Given the description of an element on the screen output the (x, y) to click on. 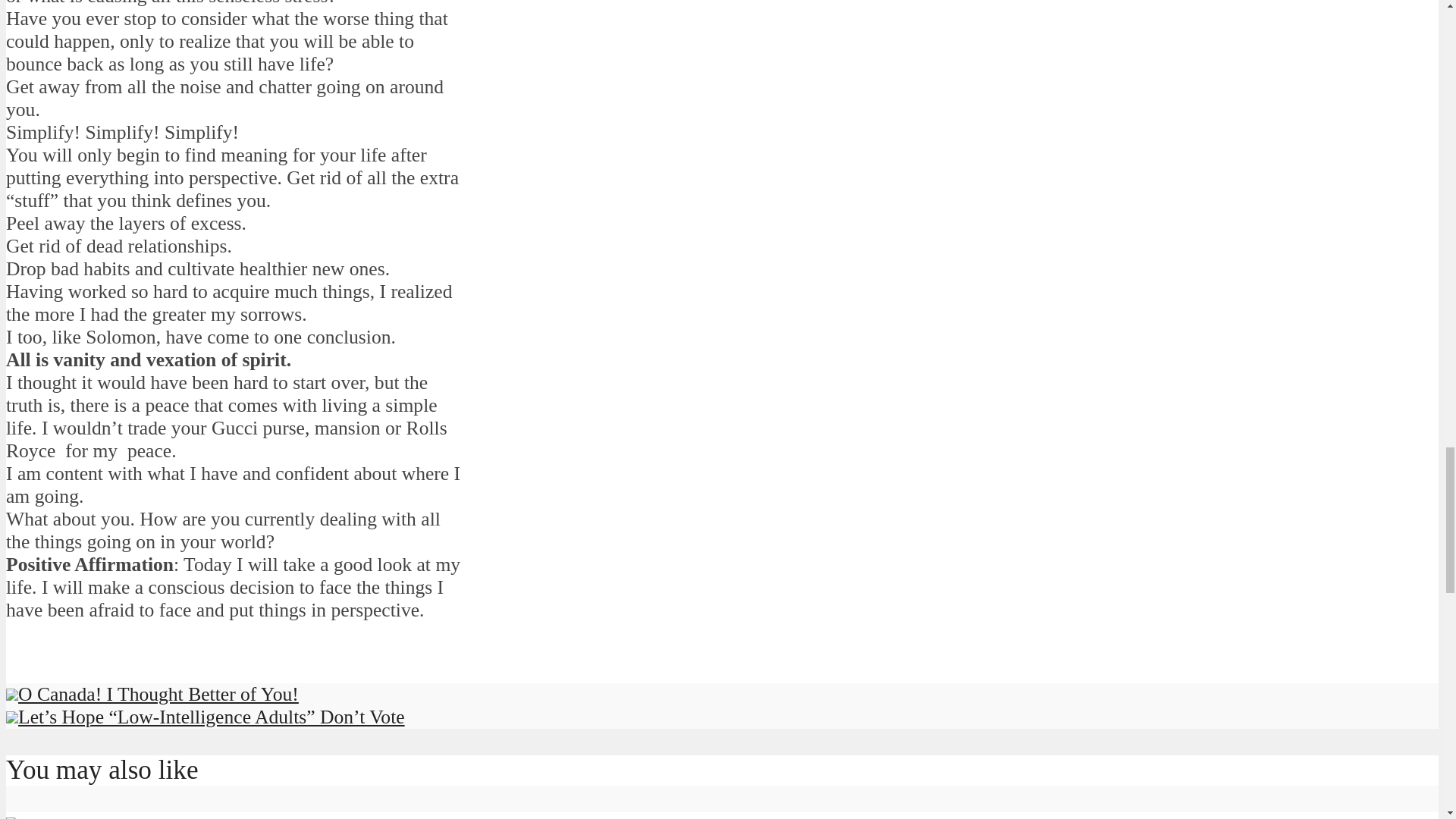
O Canada! I Thought Better of You! (151, 694)
Time Management (11, 815)
